Given the description of an element on the screen output the (x, y) to click on. 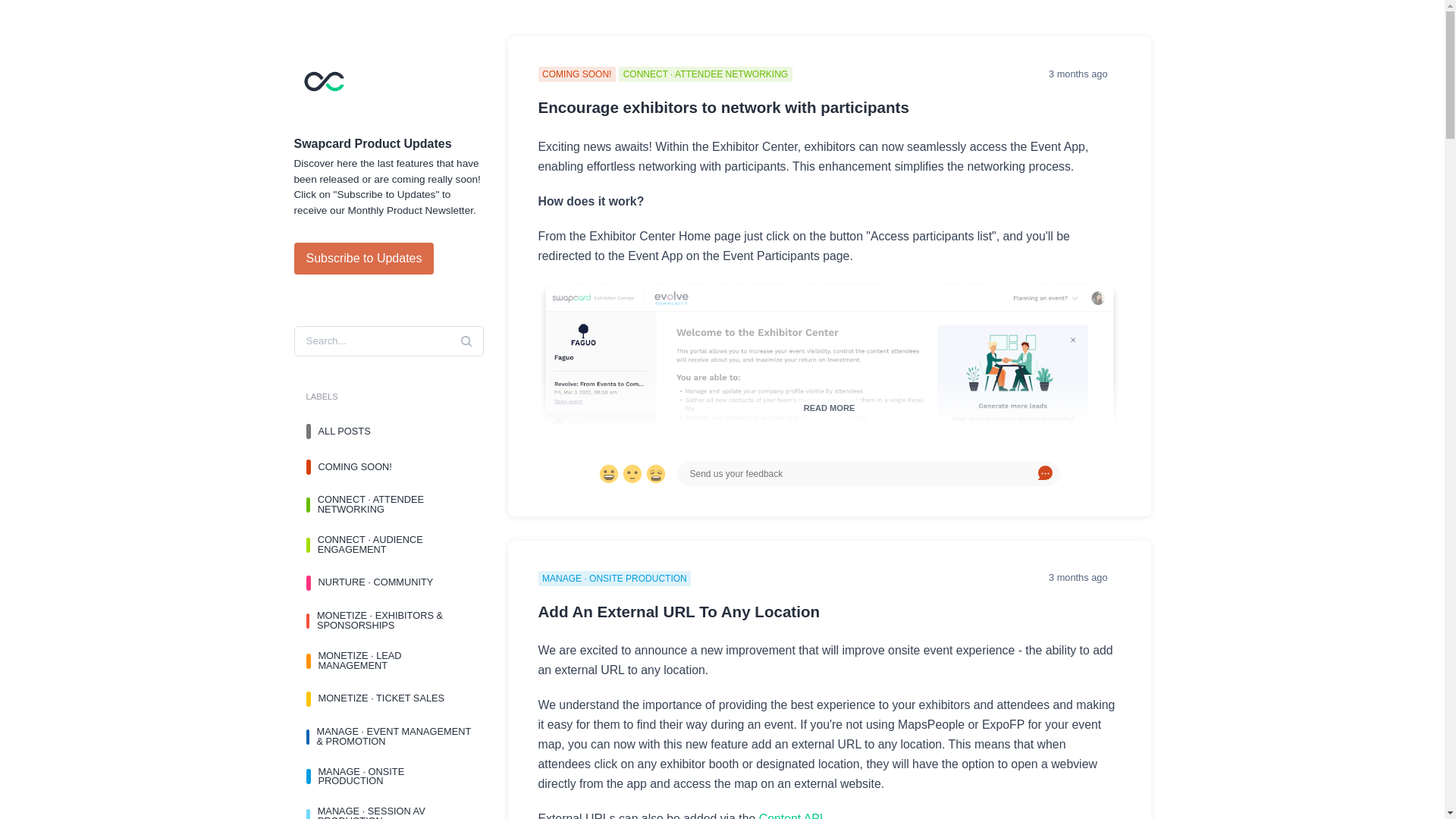
Submit Button (465, 341)
Subscribe to Updates (363, 258)
COMING SOON! (388, 466)
ALL POSTS (388, 430)
Submit Button (1044, 474)
